Given the description of an element on the screen output the (x, y) to click on. 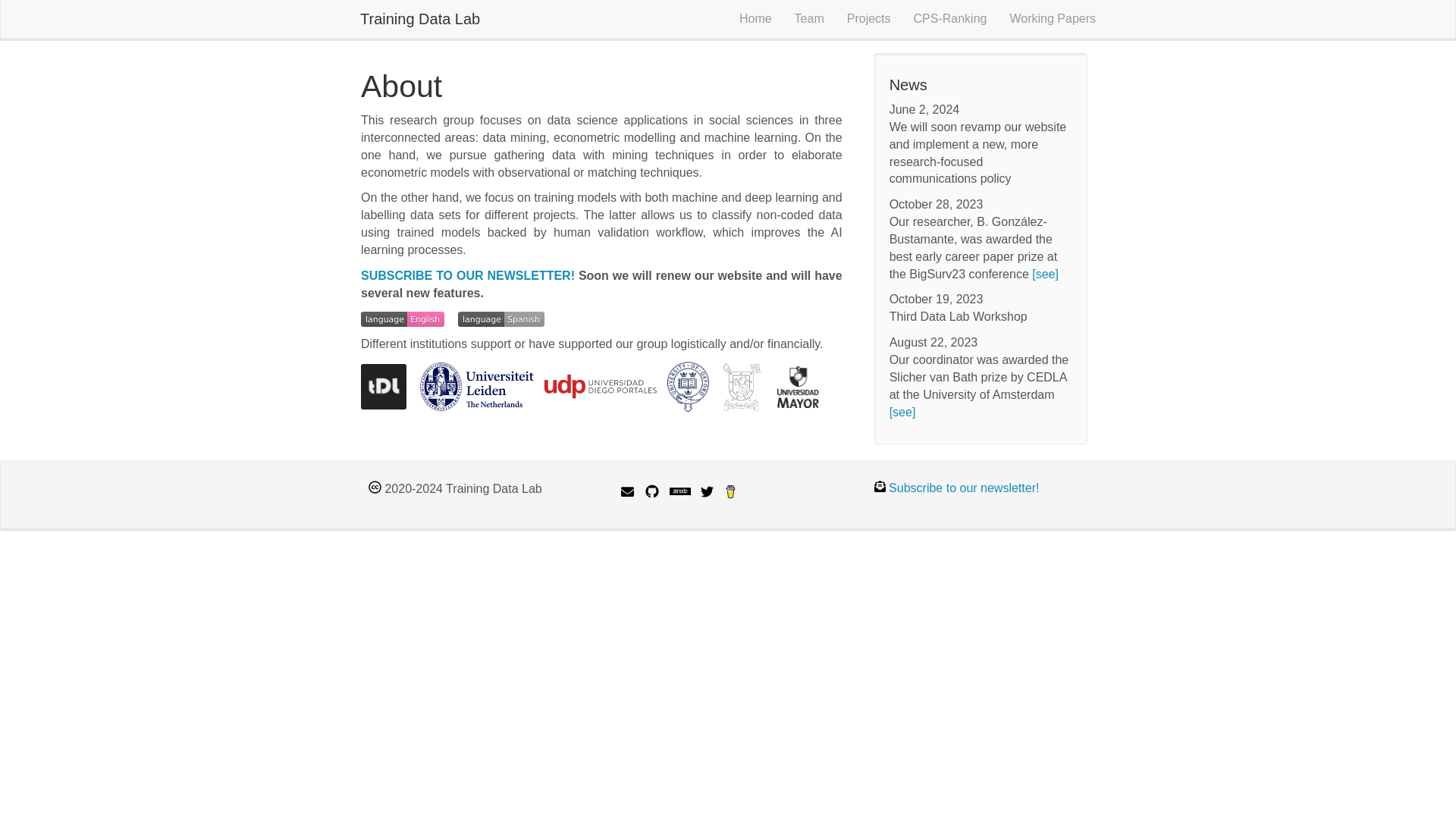
Home (755, 18)
Projects (868, 18)
SUBSCRIBE TO OUR NEWSLETTER! (468, 275)
Team (809, 18)
Working Papers (1051, 18)
Subscribe to our newsletter! (963, 488)
Training Data Lab (420, 18)
CPS-Ranking (950, 18)
